Given the description of an element on the screen output the (x, y) to click on. 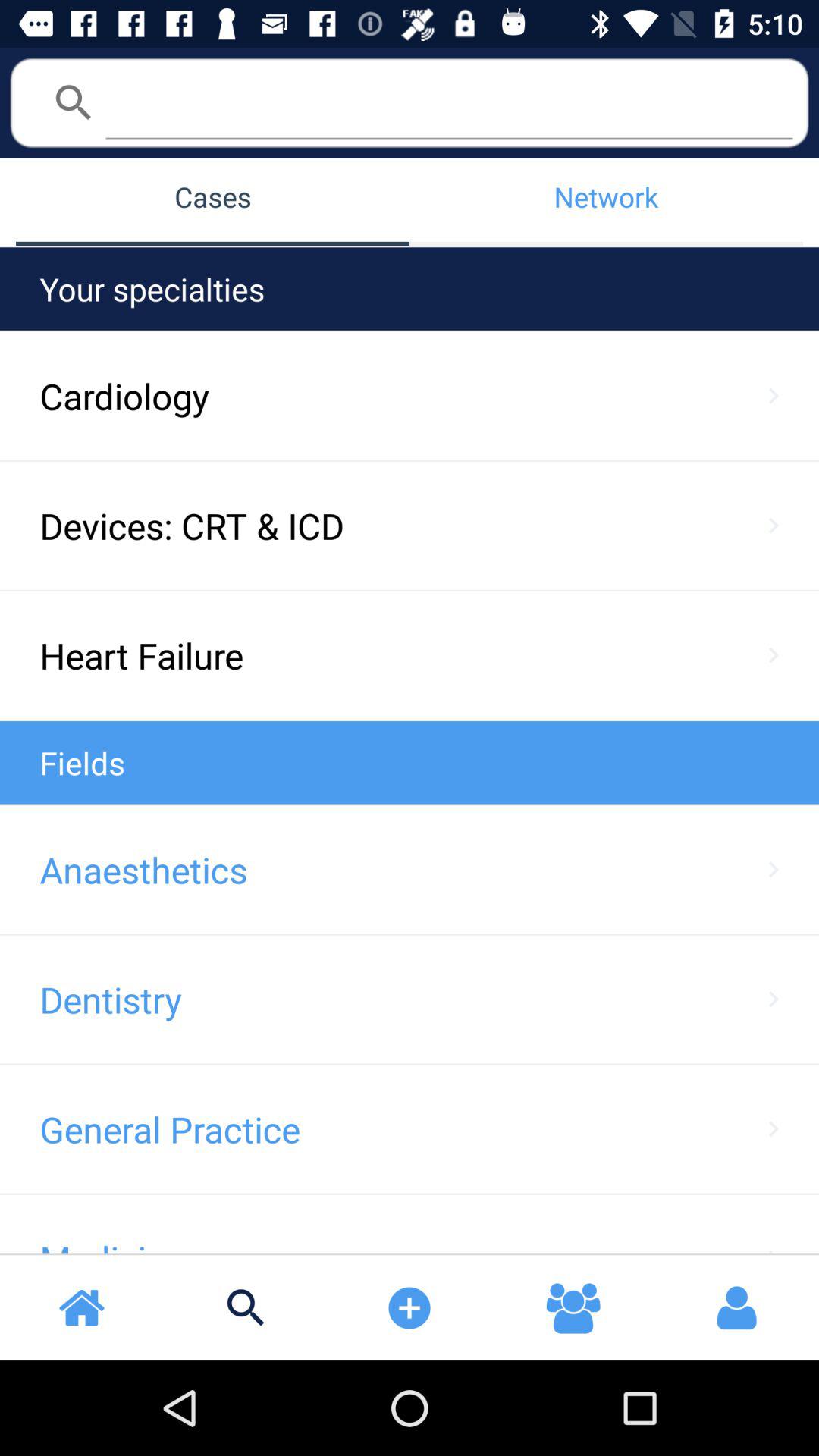
go to search option (448, 101)
